Given the description of an element on the screen output the (x, y) to click on. 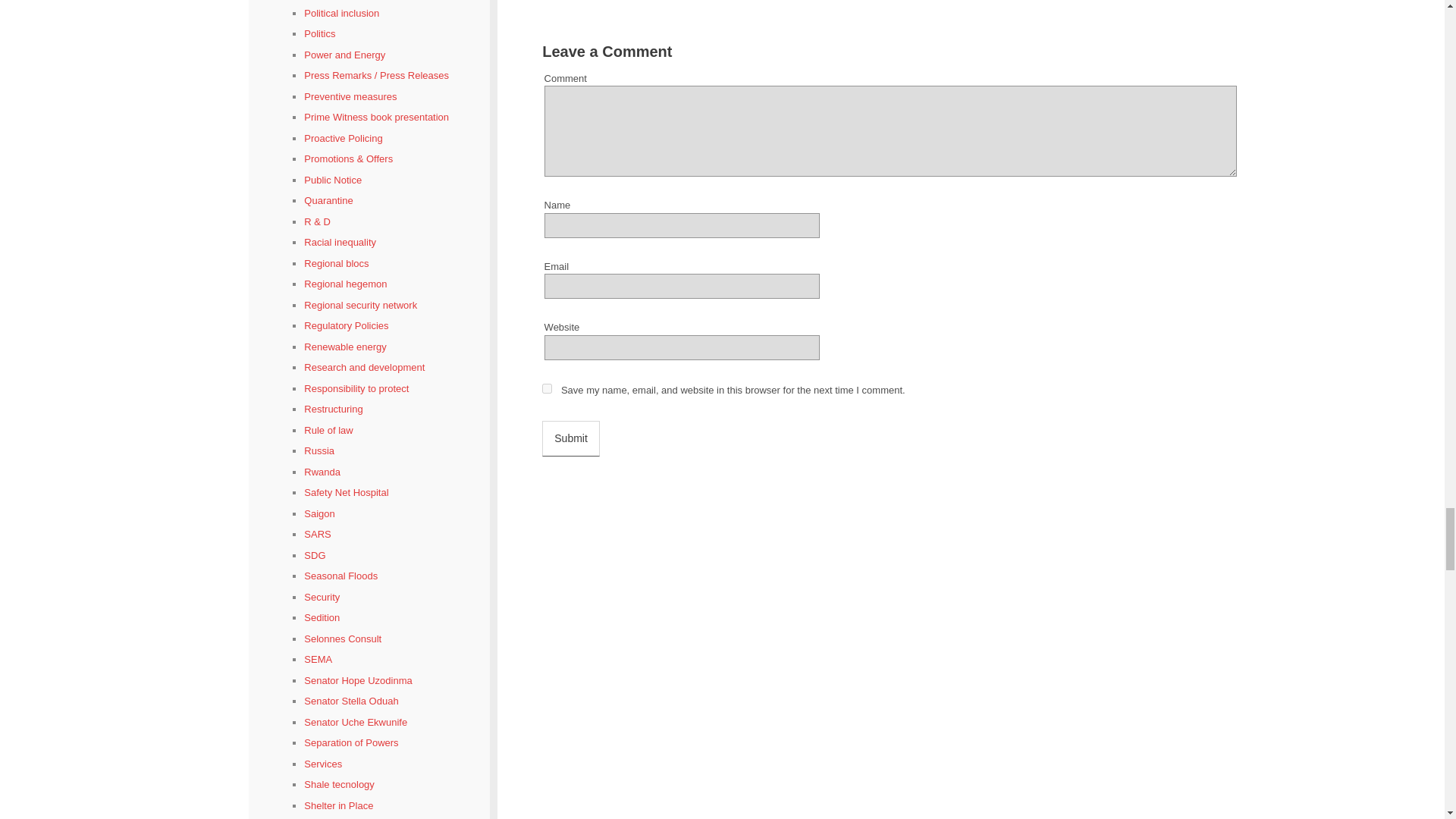
Submit (570, 438)
yes (546, 388)
